Given the description of an element on the screen output the (x, y) to click on. 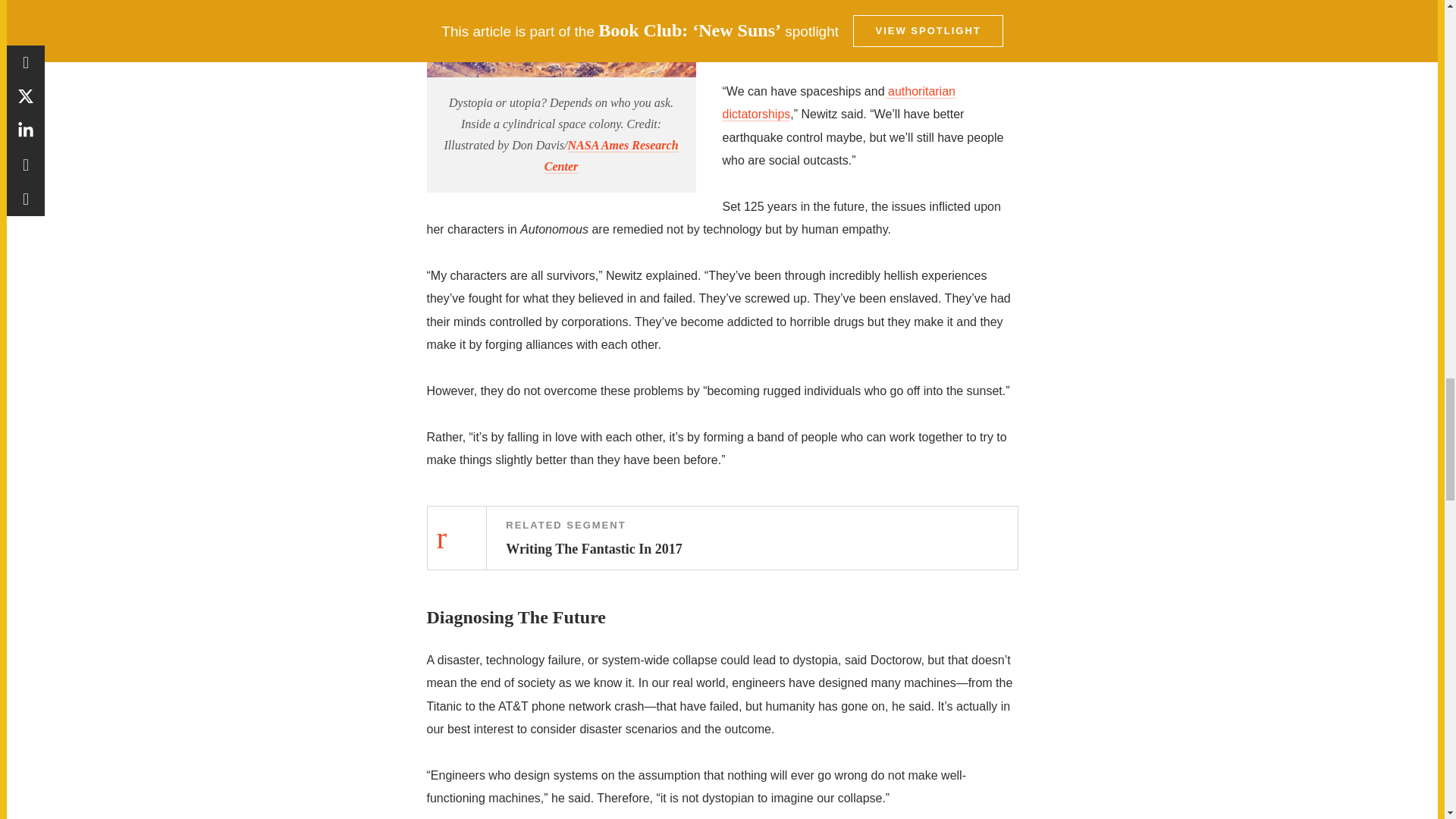
Writing The Fantastic In 2017 (721, 537)
